Given the description of an element on the screen output the (x, y) to click on. 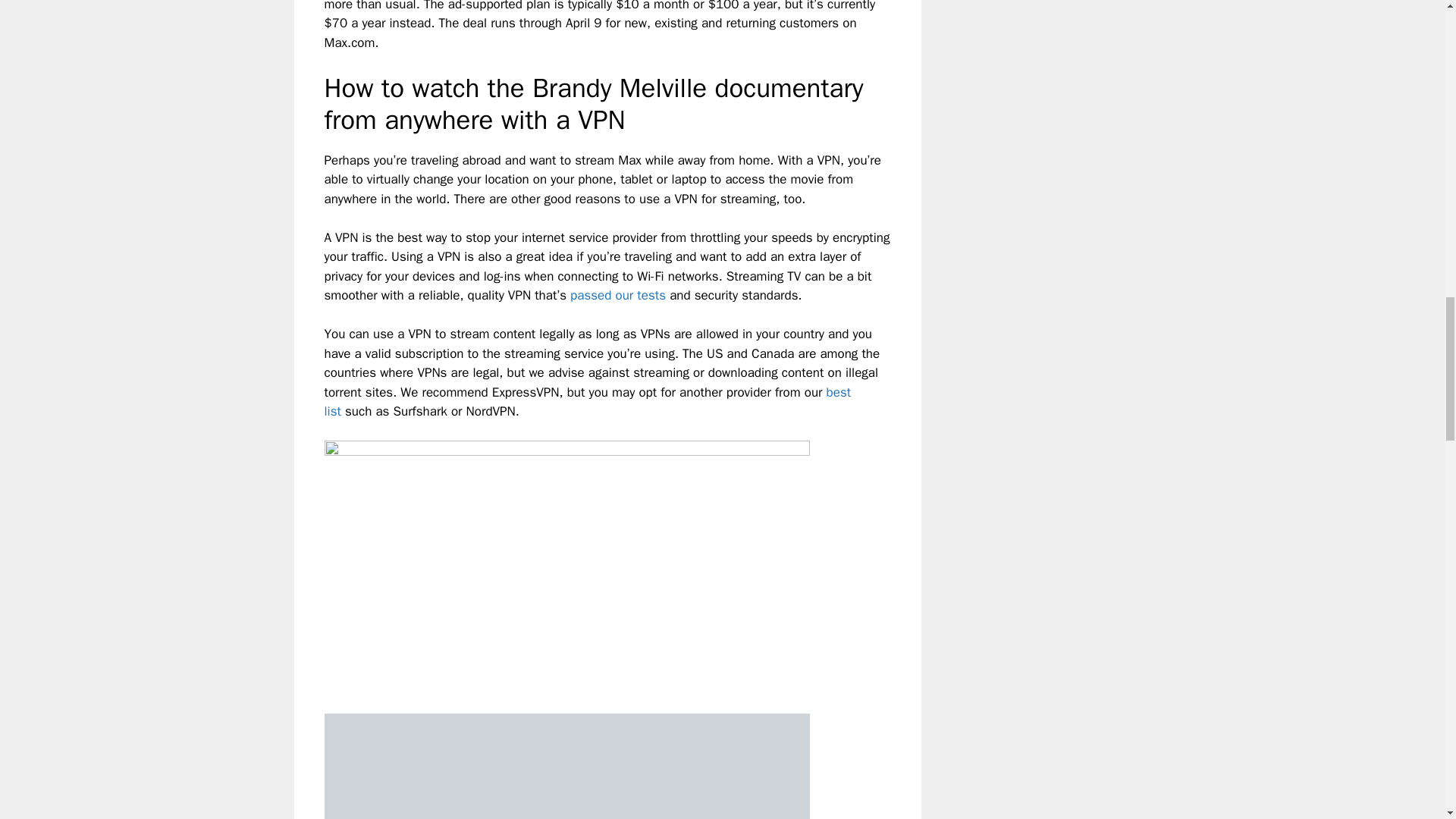
Brandy Melville HBO Documentary: When You Can Watch It 4 (566, 766)
best list (587, 402)
Brandy Melville HBO Documentary: When You Can Watch It 1 (566, 576)
passed our tests (617, 295)
